Given the description of an element on the screen output the (x, y) to click on. 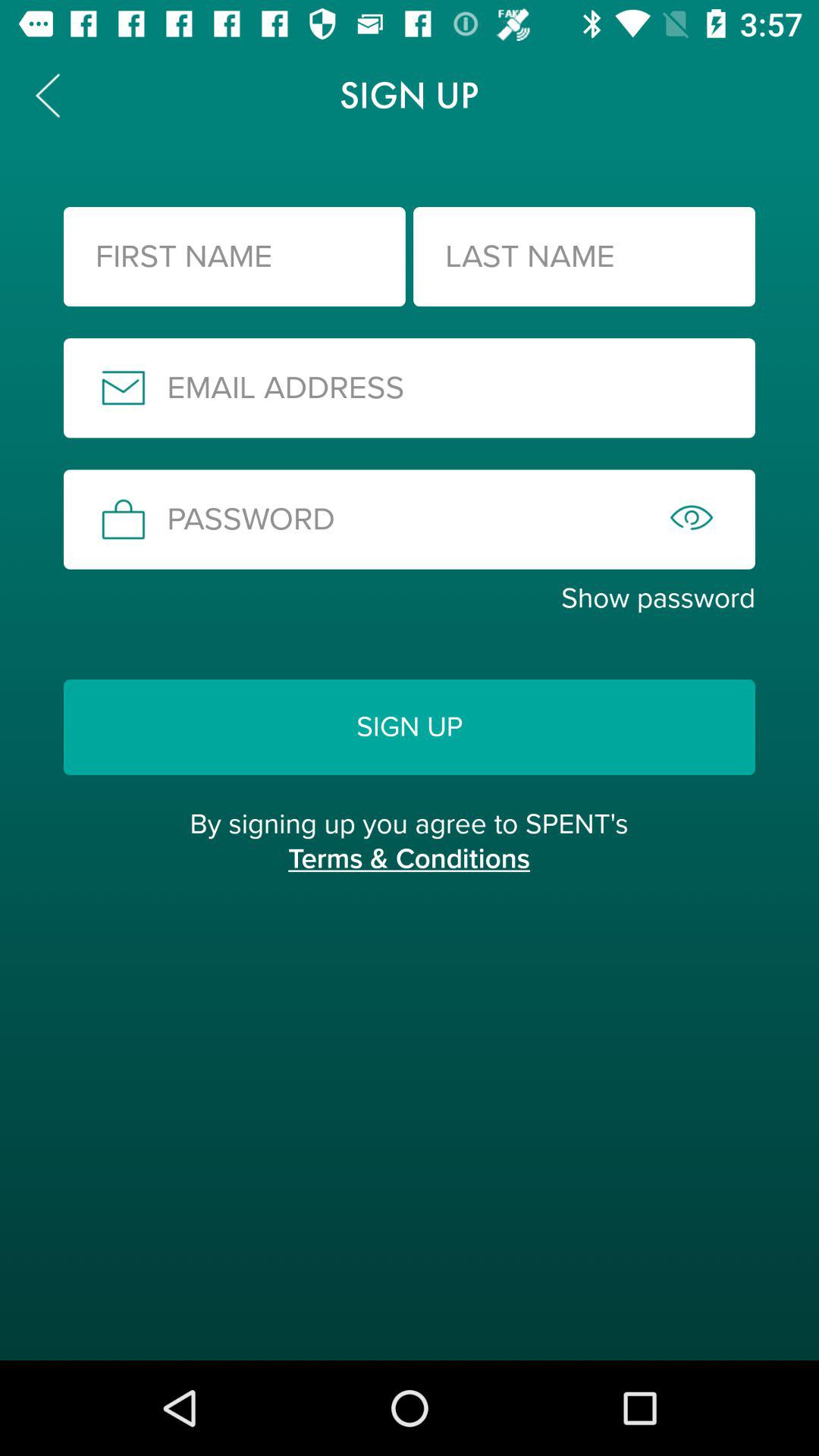
type email address (409, 387)
